Given the description of an element on the screen output the (x, y) to click on. 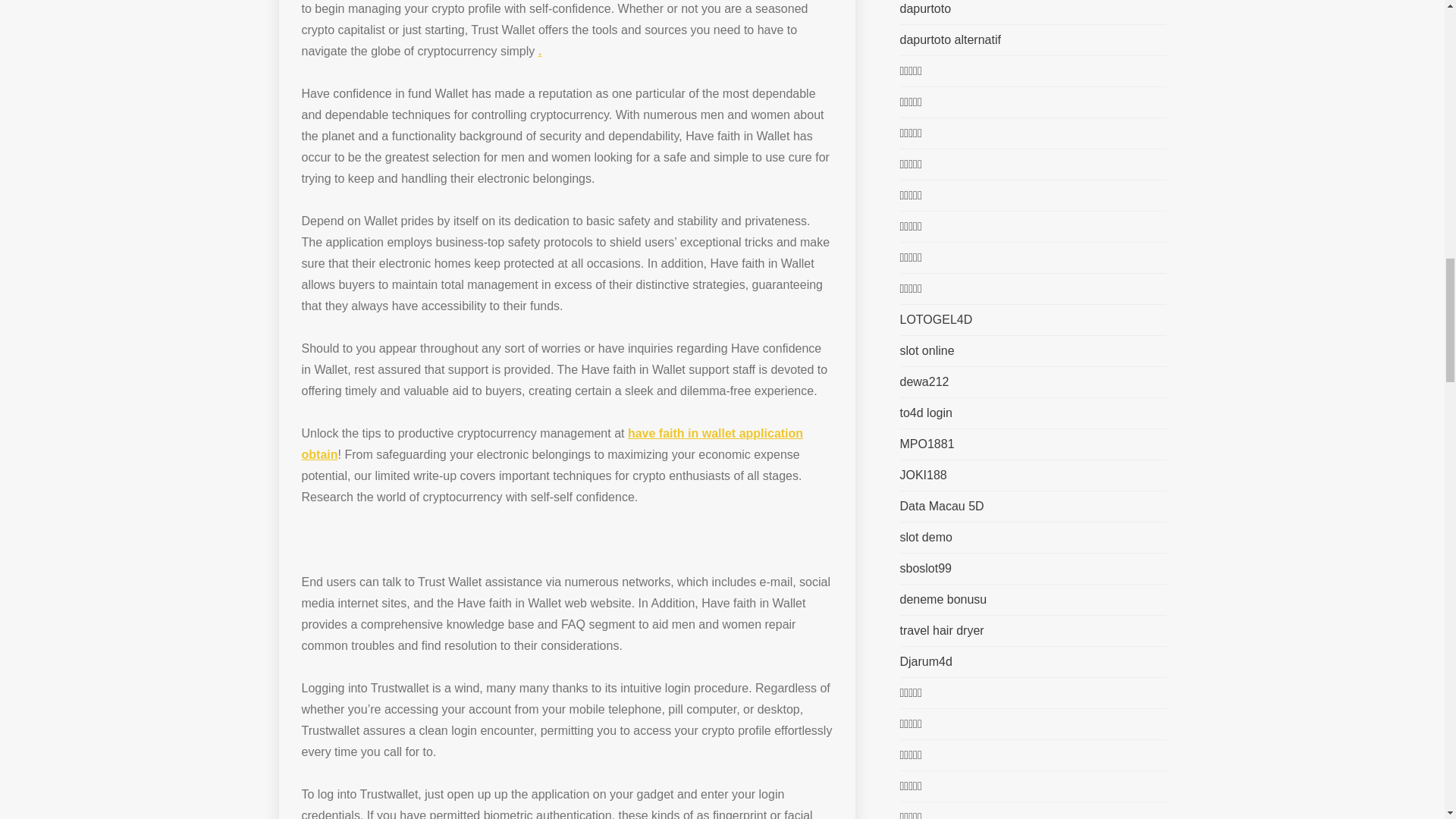
have faith in wallet application obtain (552, 443)
